Given the description of an element on the screen output the (x, y) to click on. 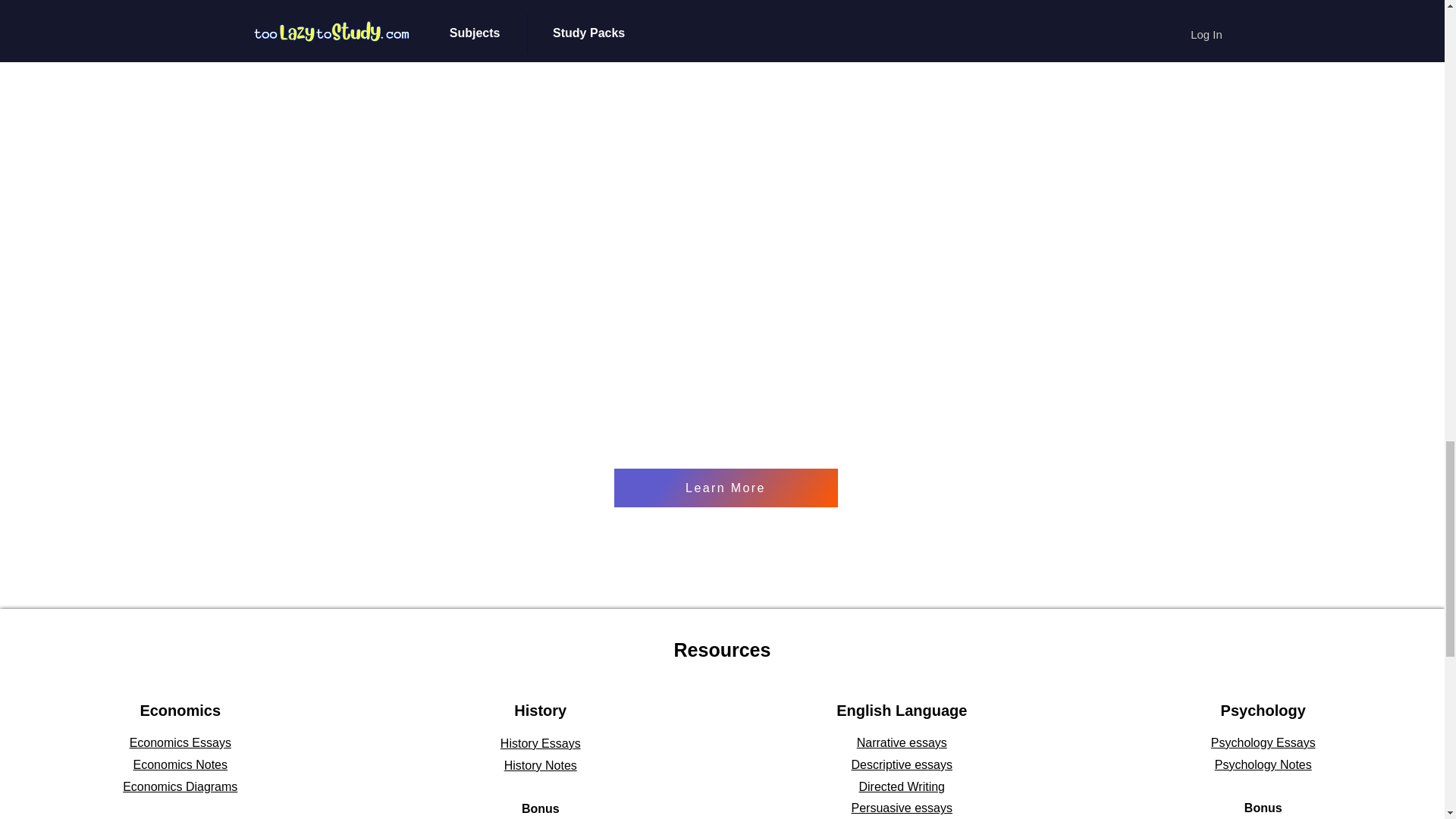
History Essays (540, 743)
Narrative essays (902, 742)
Economics Notes (180, 764)
Learn More (726, 487)
Economics Diagrams (179, 786)
History Notes (539, 765)
Economics Essays (180, 742)
